Given the description of an element on the screen output the (x, y) to click on. 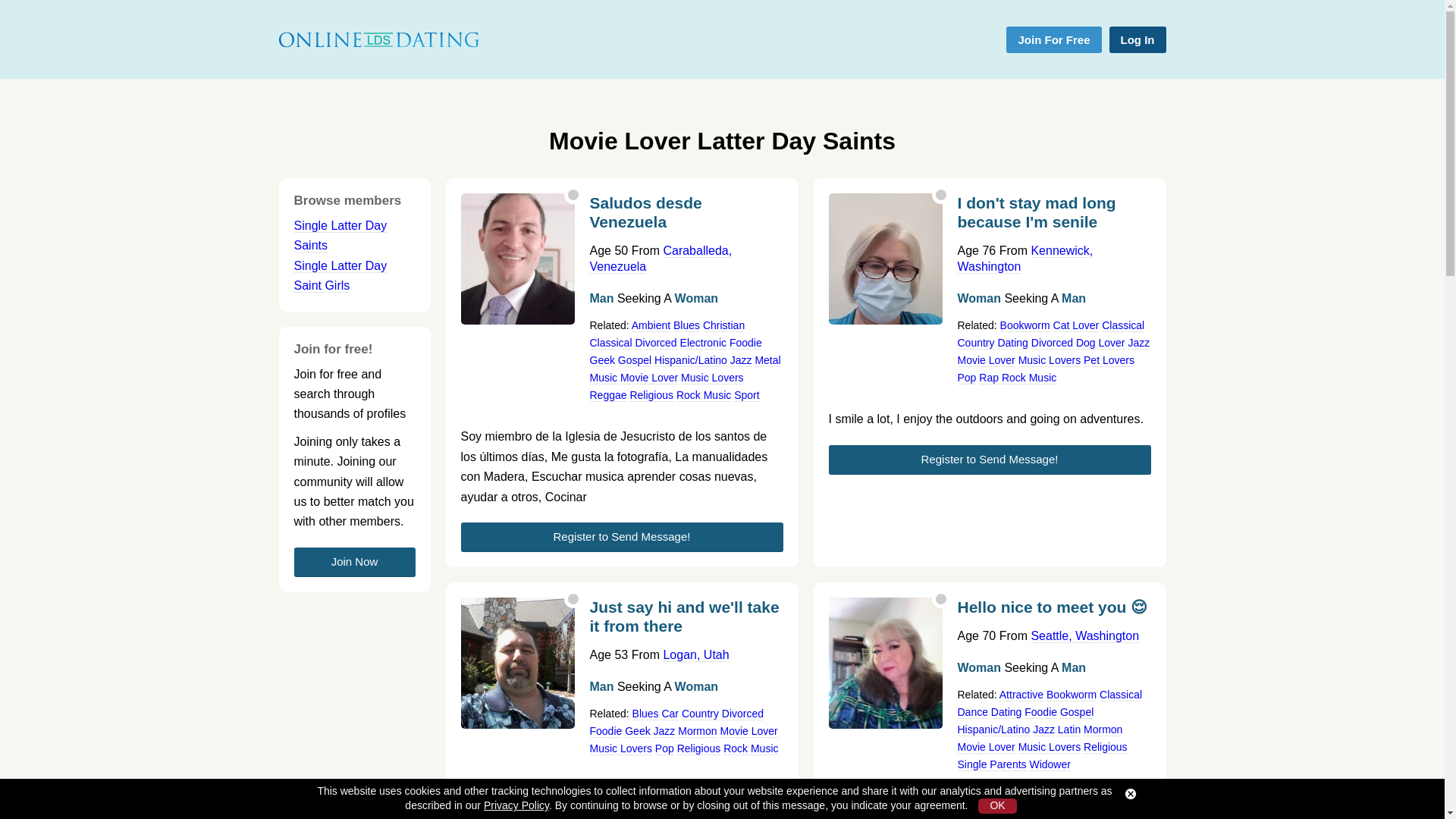
Saludos desde Venezuela (686, 217)
Electronic (702, 342)
Jazz (741, 359)
OK (997, 806)
Rock Music (703, 395)
Christian (723, 325)
Register to Send Message! (622, 537)
Religious (650, 395)
Single Latter Day Saints (340, 235)
Divorced (655, 342)
